Given the description of an element on the screen output the (x, y) to click on. 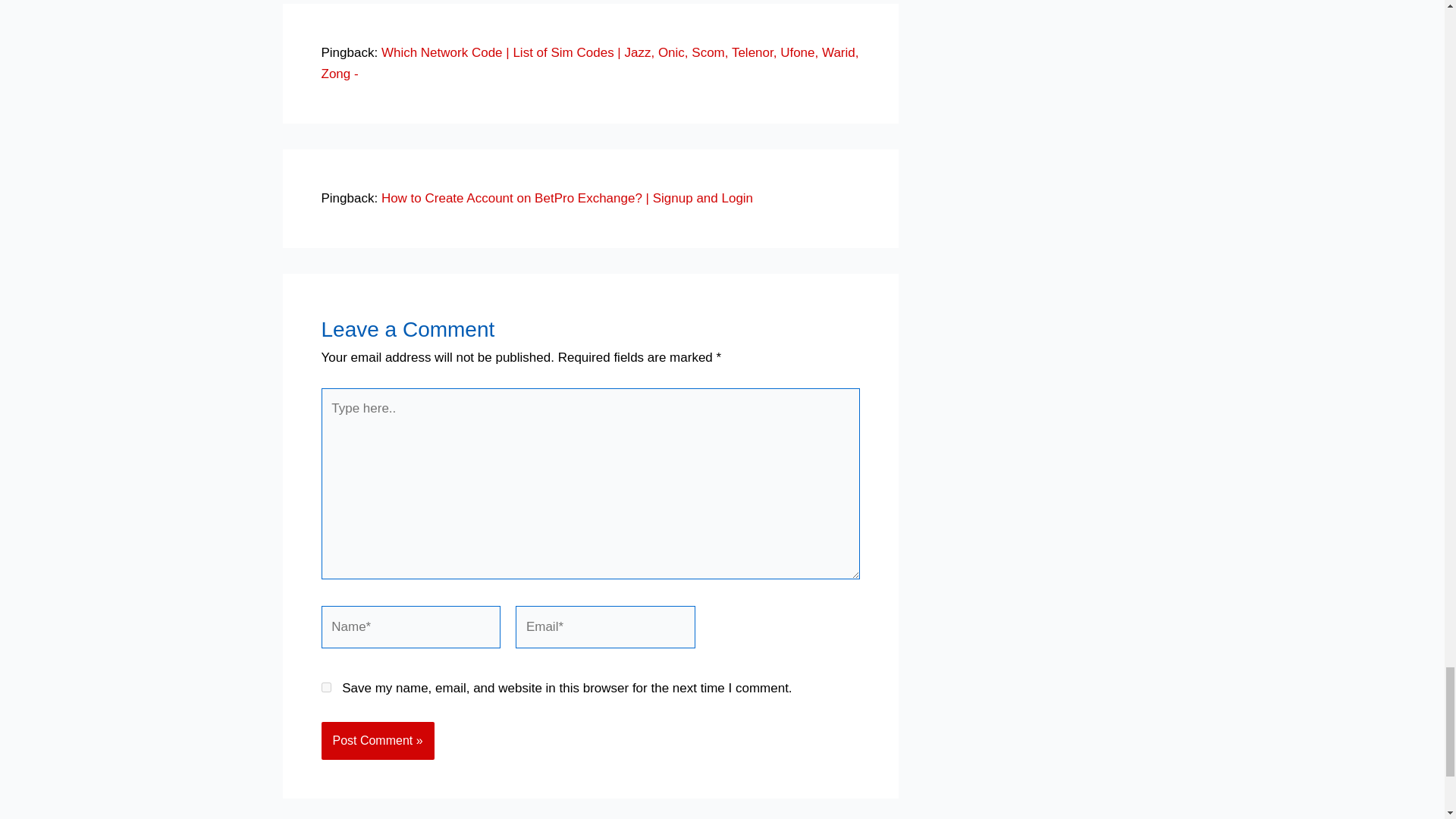
yes (326, 687)
